Given the description of an element on the screen output the (x, y) to click on. 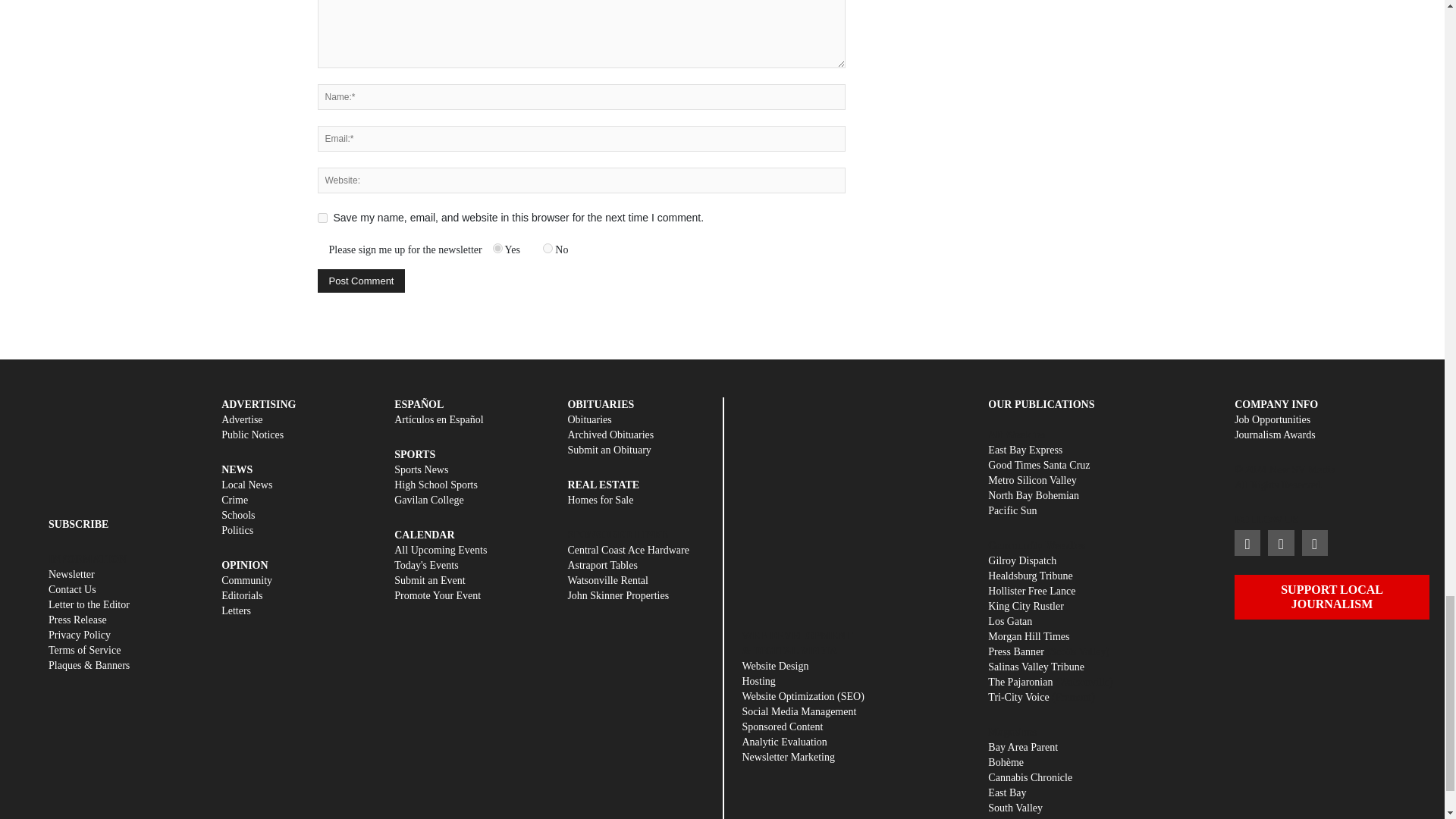
Yes (497, 248)
yes (321, 217)
Post Comment (360, 280)
No (548, 248)
